Given the description of an element on the screen output the (x, y) to click on. 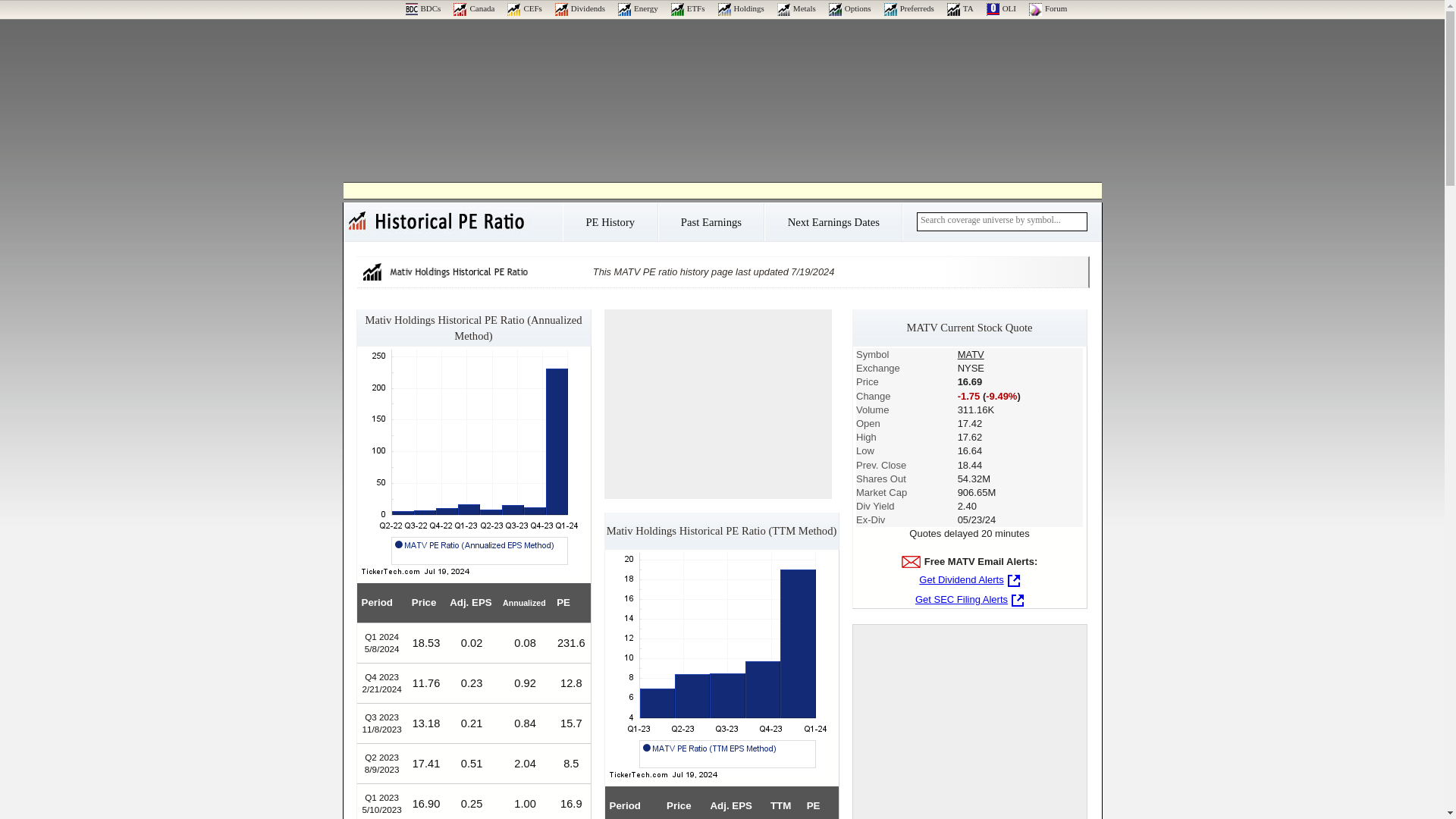
OLI (1001, 8)
Get SEC Filing Alerts (969, 599)
Dividend Channel (579, 8)
Preferreds (908, 8)
Advertisement (717, 403)
TA (960, 8)
Canada (473, 8)
Options (849, 8)
PE History (609, 225)
Forum (1048, 8)
Advertisement (969, 721)
The Online Investor (1001, 8)
Past Earnings (711, 225)
Stock Options Channel (849, 8)
Get Dividend Alerts (968, 579)
